Given the description of an element on the screen output the (x, y) to click on. 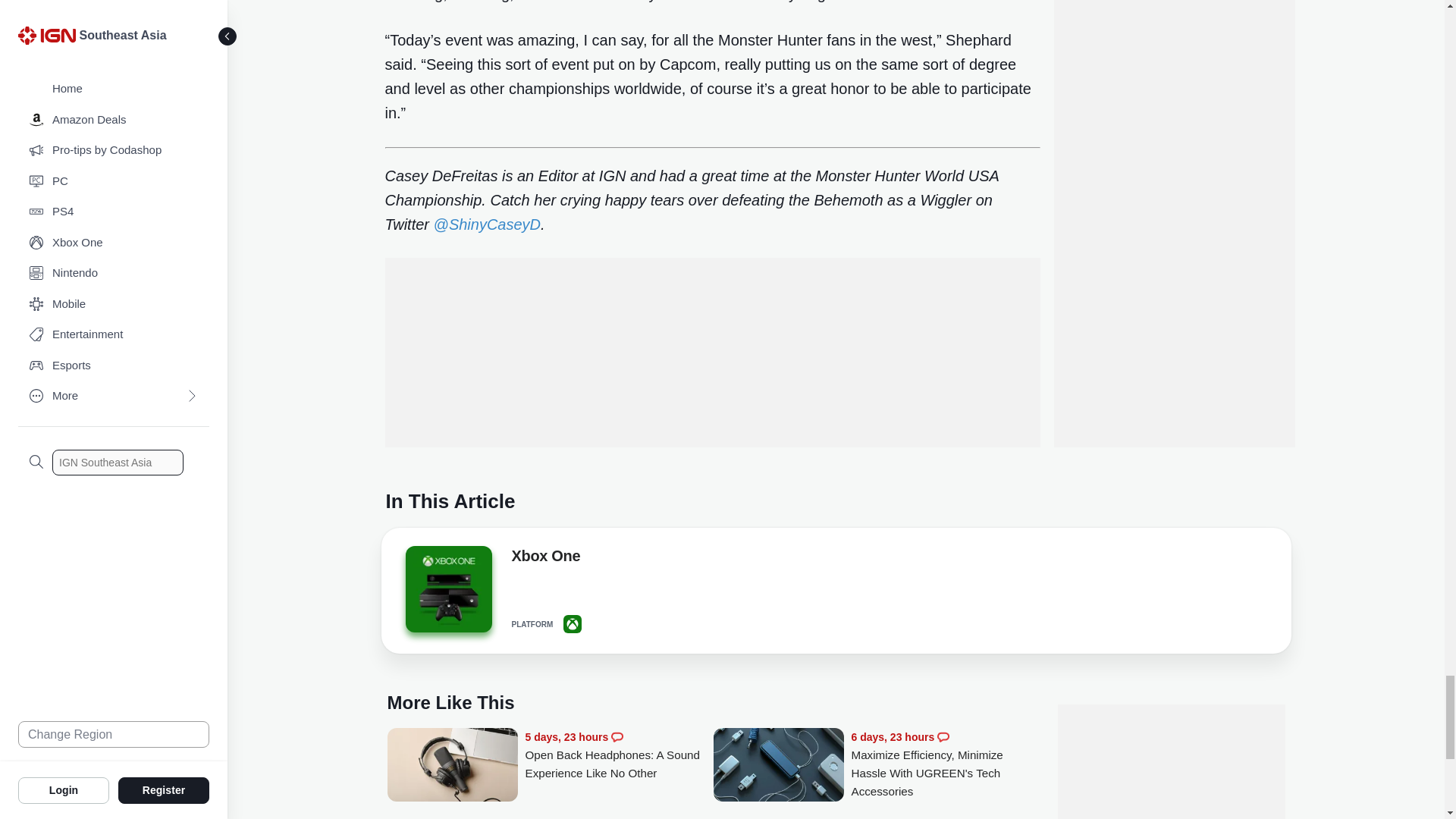
Xbox One (448, 589)
Open Back Headphones: A Sound Experience Like No Other (451, 766)
XBOXONE (571, 624)
Xbox One (448, 593)
Comments (617, 736)
Comments (943, 736)
Open Back Headphones: A Sound Experience Like No Other (618, 755)
Xbox One (545, 558)
